Given the description of an element on the screen output the (x, y) to click on. 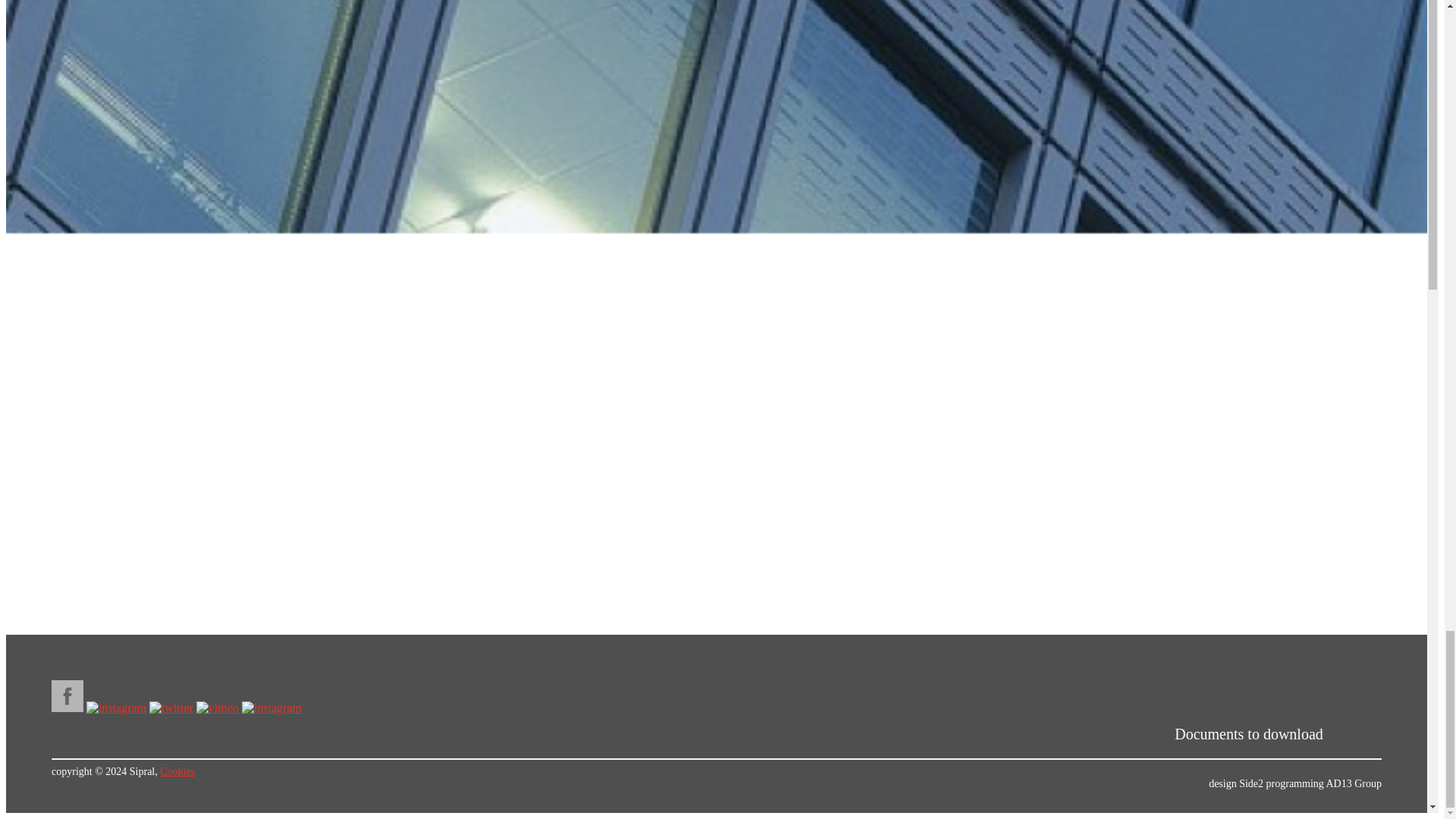
all projects (720, 6)
Documents to download (1278, 728)
Cookies (171, 787)
